Given the description of an element on the screen output the (x, y) to click on. 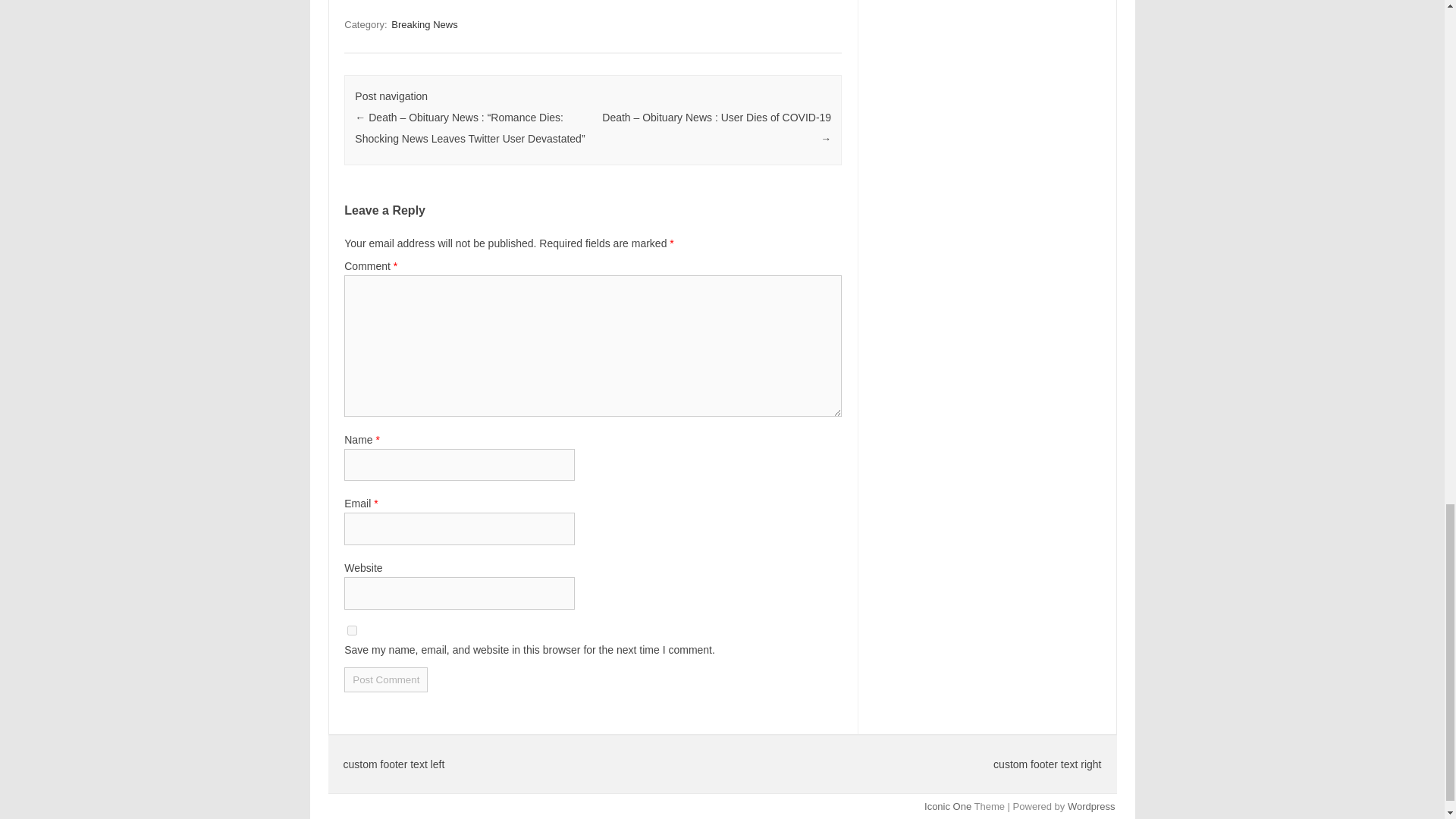
yes (351, 630)
Wordpress (1091, 806)
Iconic One (947, 806)
Breaking News (424, 24)
Post Comment (385, 679)
Post Comment (385, 679)
